Given the description of an element on the screen output the (x, y) to click on. 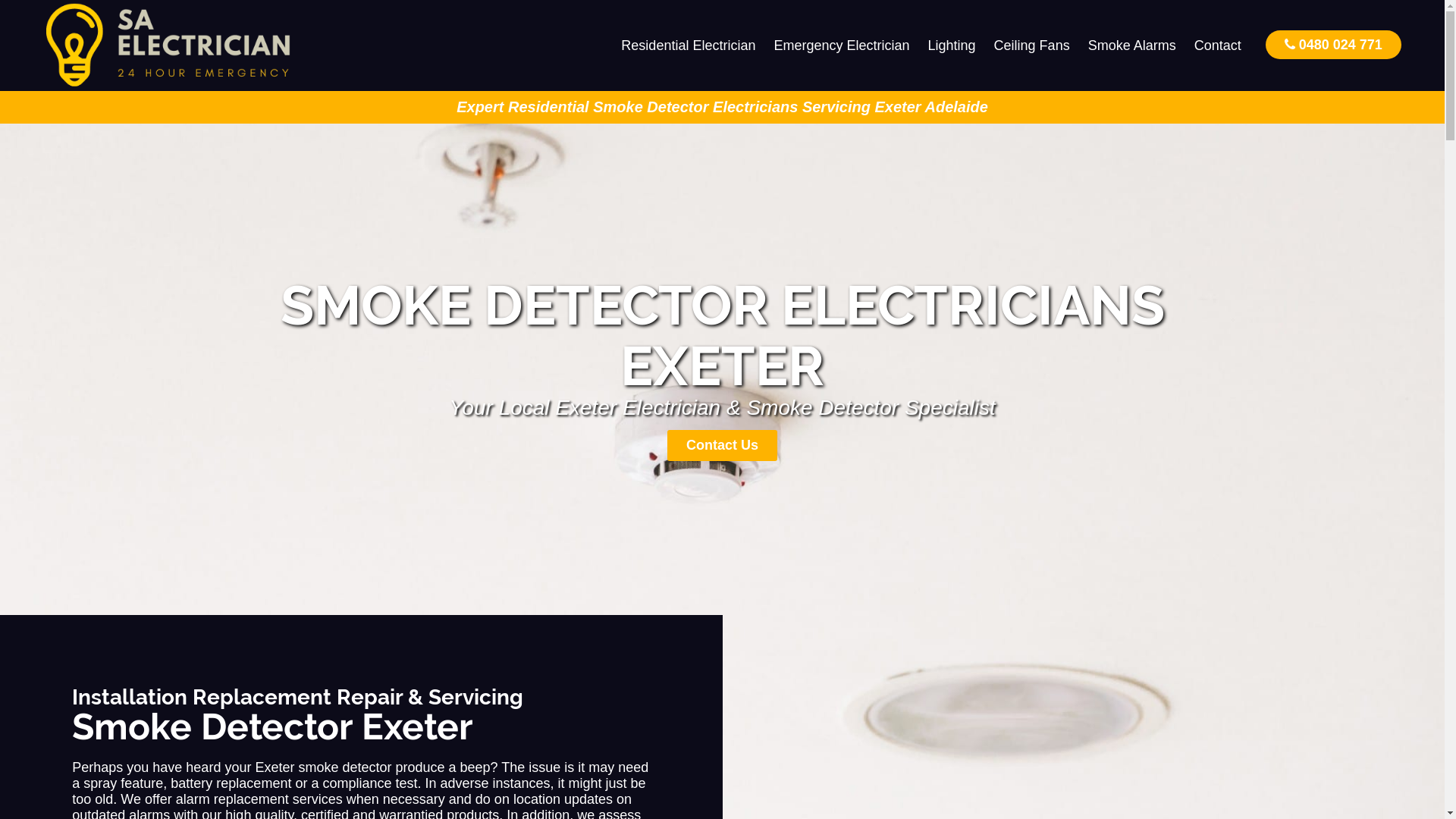
0480 024 771 Element type: text (1333, 44)
Lighting Element type: text (952, 45)
Emergency Electrician Element type: text (841, 45)
Smoke Alarms Element type: text (1132, 45)
Contact Element type: text (1217, 45)
Ceiling Fans Element type: text (1032, 45)
Residential Electrician Element type: text (687, 45)
Contact Us Element type: text (722, 445)
